Given the description of an element on the screen output the (x, y) to click on. 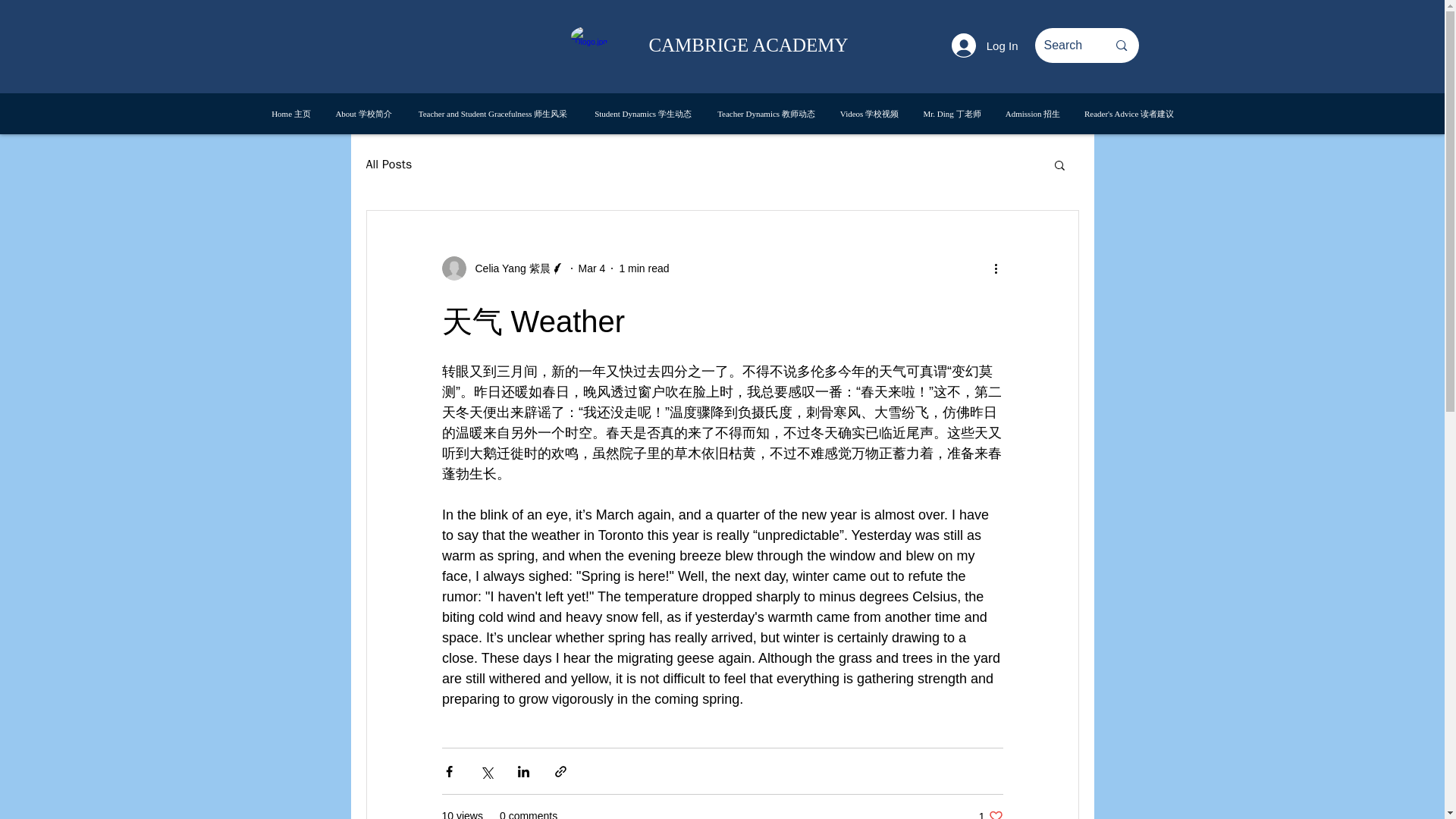
Log In (984, 45)
1 min read (990, 814)
Mar 4 (643, 268)
All Posts (591, 268)
